Given the description of an element on the screen output the (x, y) to click on. 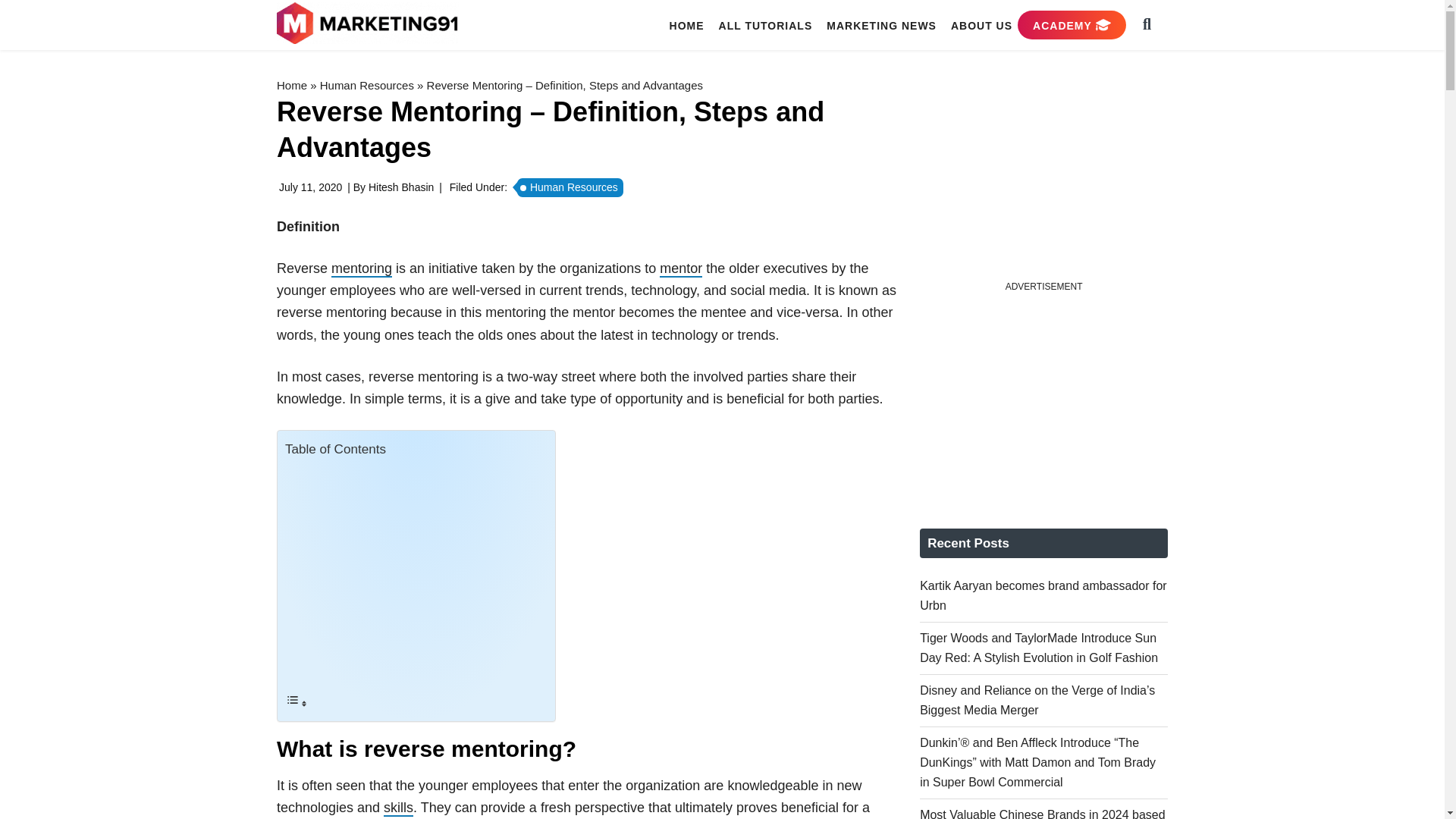
MARKETING91 (369, 24)
ALL TUTORIALS (766, 24)
HOME (687, 24)
